Given the description of an element on the screen output the (x, y) to click on. 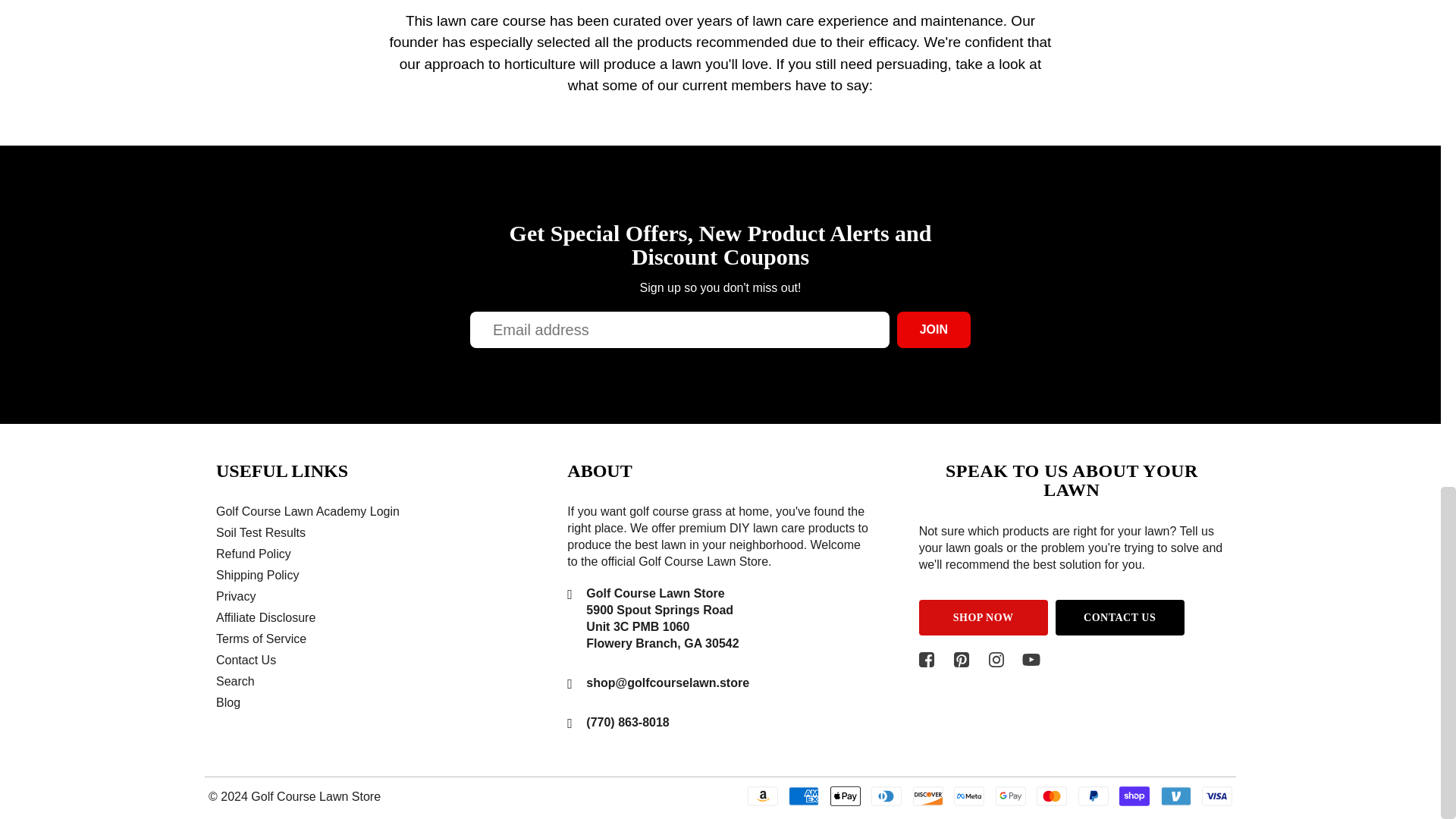
Shop Pay (1134, 795)
Mastercard (1051, 795)
Pinterest (962, 660)
Meta Pay (968, 795)
Visa (1216, 795)
Amazon (762, 795)
American Express (803, 795)
Venmo (1175, 795)
PayPal (1093, 795)
Google Pay (1010, 795)
Diners Club (885, 795)
Discover (927, 795)
Apple Pay (844, 795)
Facebook (927, 660)
YouTube (1031, 660)
